Given the description of an element on the screen output the (x, y) to click on. 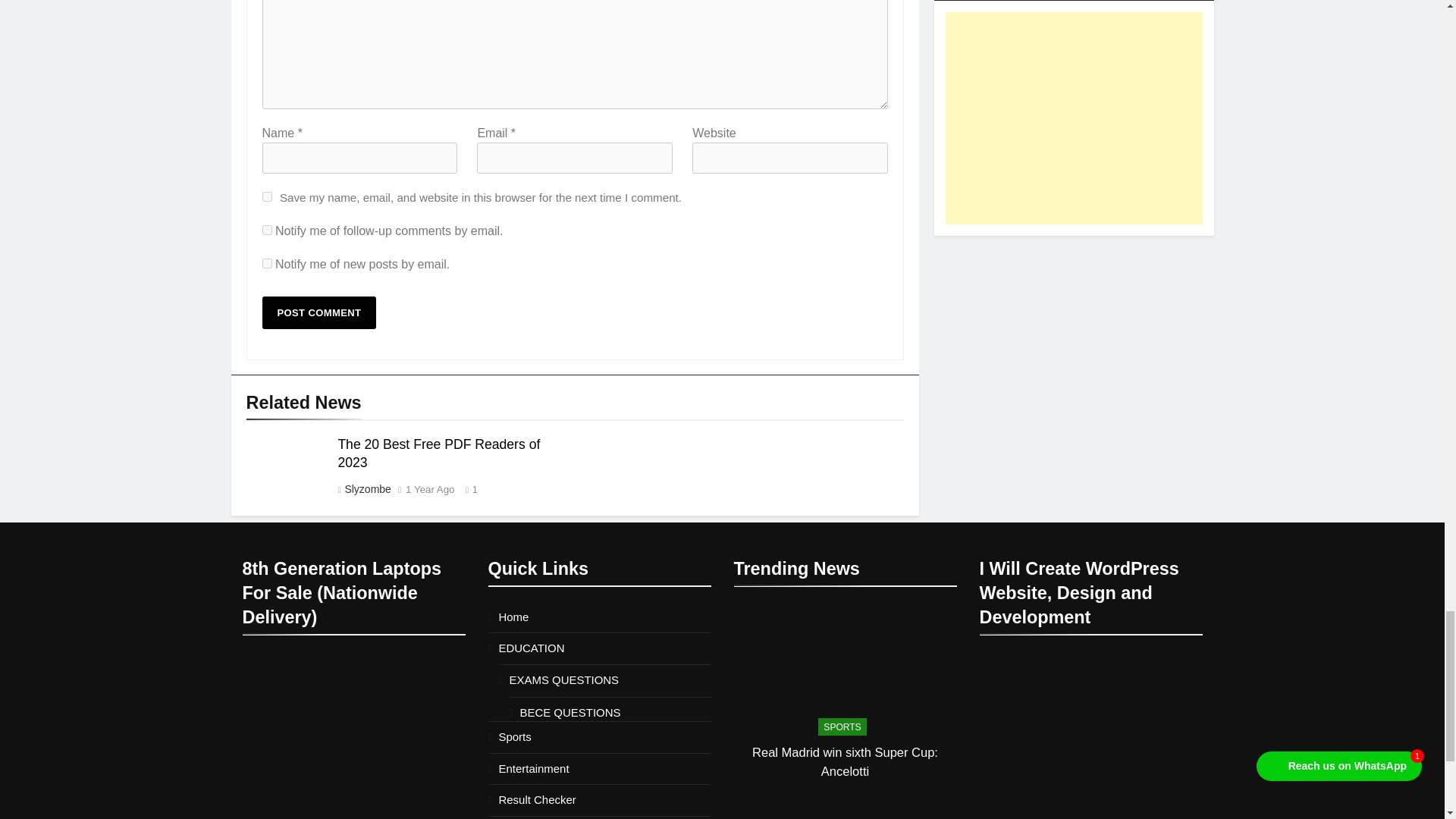
Slyzombe (366, 489)
subscribe (267, 230)
subscribe (267, 263)
Post Comment (319, 312)
Post Comment (319, 312)
The 20 Best Free PDF Readers of 2023 (438, 453)
yes (267, 196)
